Given the description of an element on the screen output the (x, y) to click on. 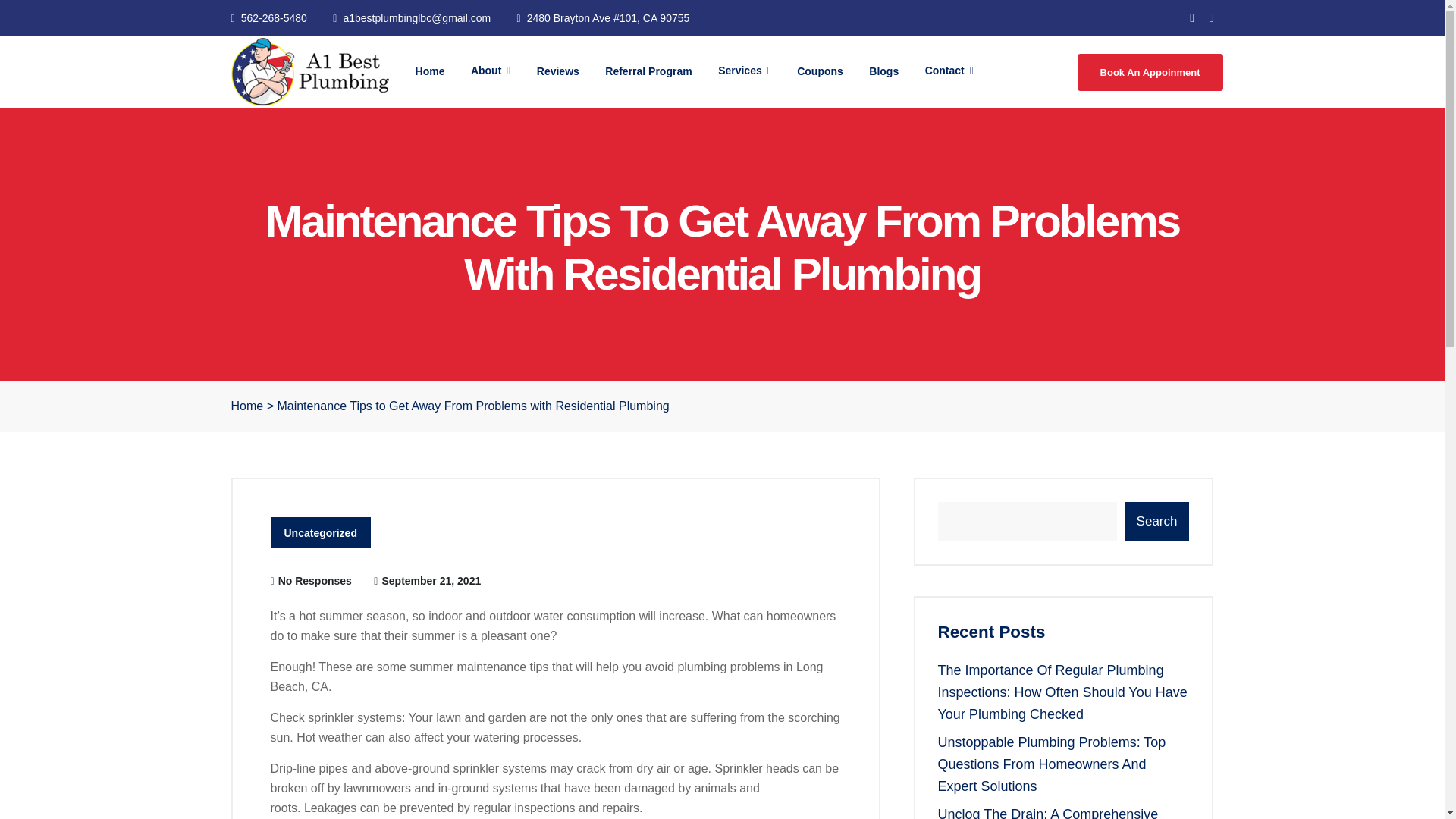
562-268-5480 (267, 18)
Referral Program (648, 70)
Coupons (820, 70)
Contact (949, 70)
Services (744, 70)
About (490, 70)
Services (744, 70)
Coupons (820, 70)
Referral Program (648, 70)
Reviews (558, 70)
